Given the description of an element on the screen output the (x, y) to click on. 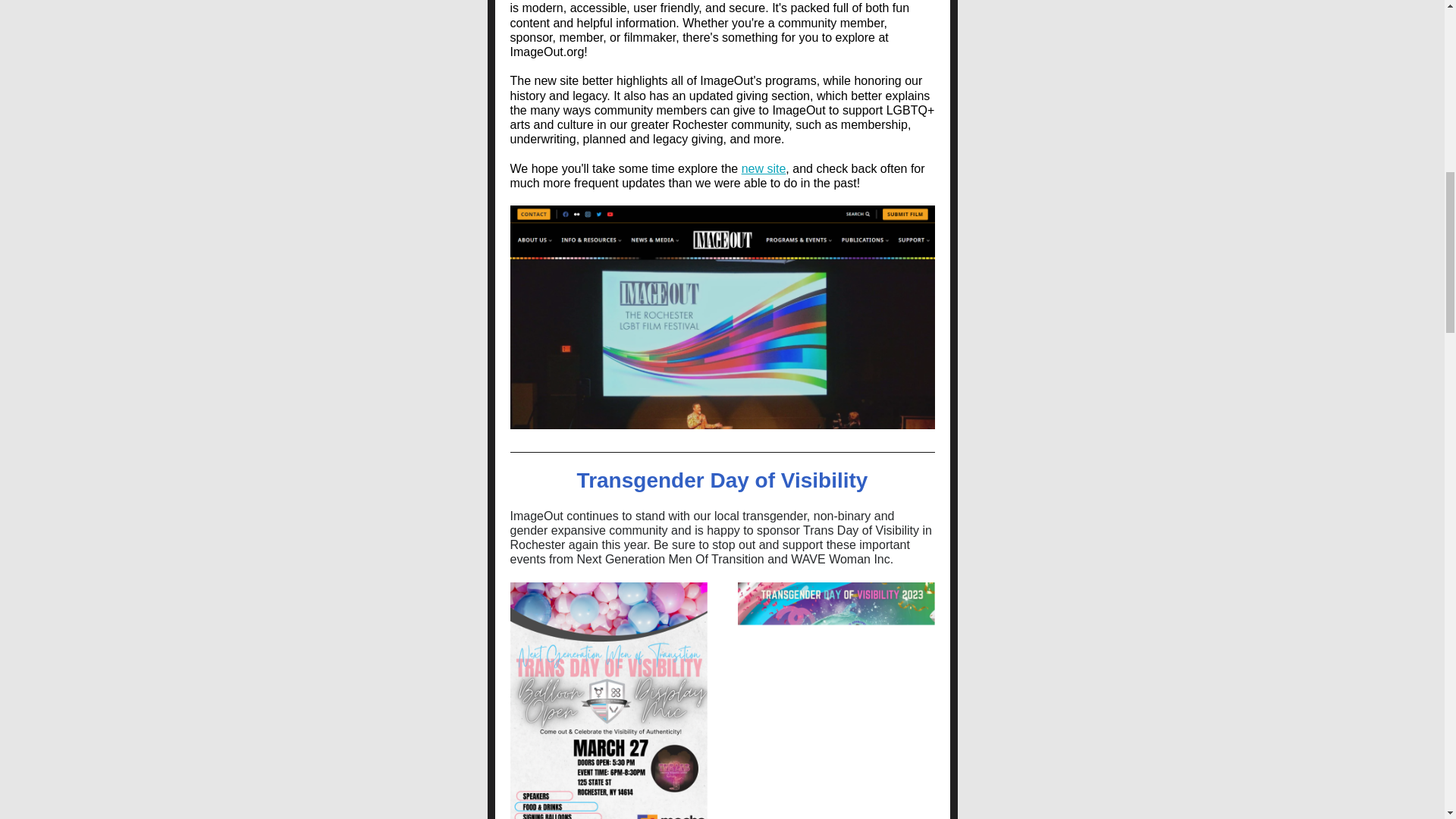
new site (763, 168)
